Given the description of an element on the screen output the (x, y) to click on. 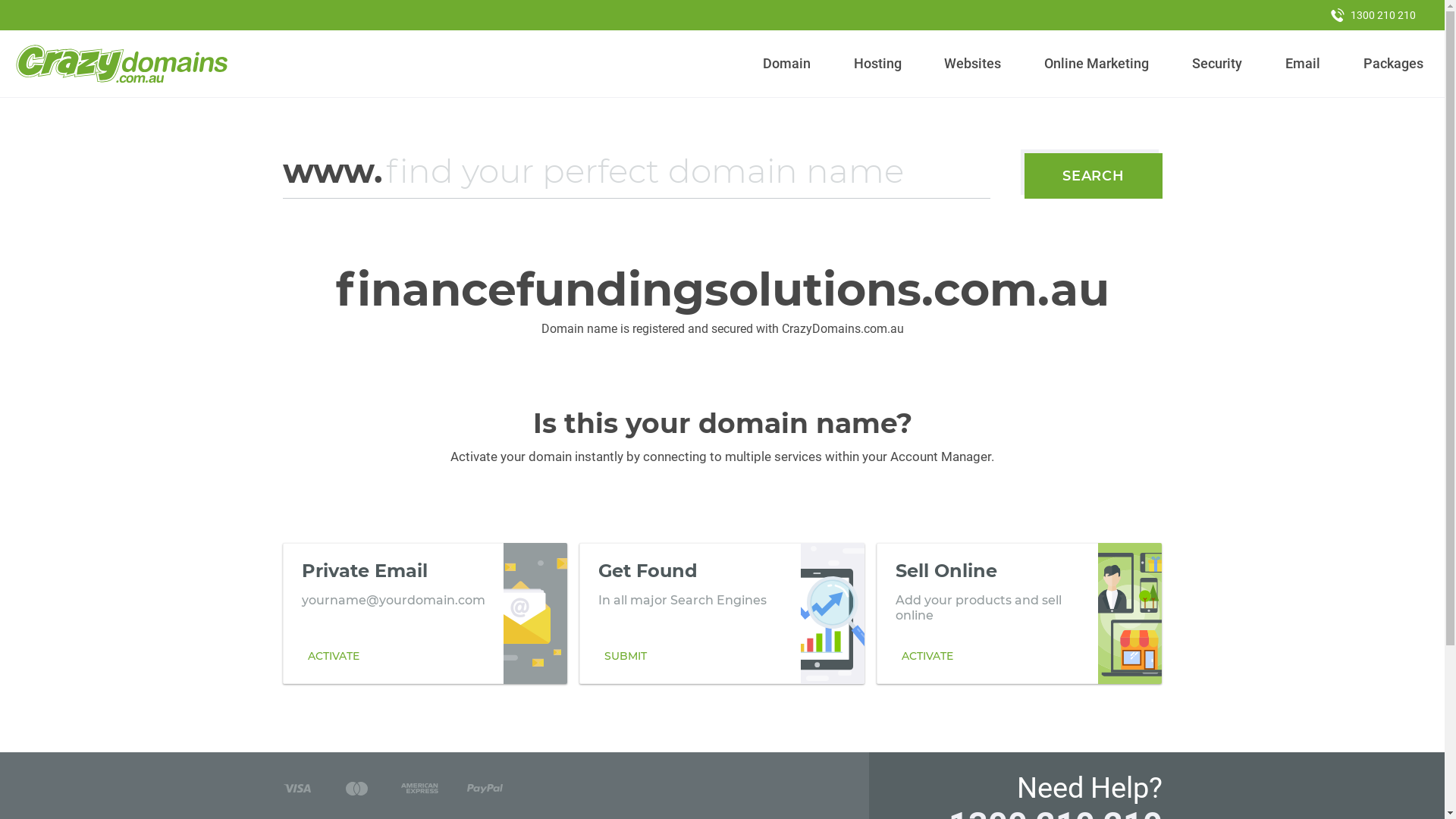
Websites Element type: text (972, 63)
Get Found
In all major Search Engines
SUBMIT Element type: text (721, 613)
Sell Online
Add your products and sell online
ACTIVATE Element type: text (1018, 613)
Email Element type: text (1302, 63)
Security Element type: text (1217, 63)
Hosting Element type: text (877, 63)
Packages Element type: text (1392, 63)
Private Email
yourname@yourdomain.com
ACTIVATE Element type: text (424, 613)
Domain Element type: text (786, 63)
SEARCH Element type: text (1092, 175)
1300 210 210 Element type: text (1373, 15)
Online Marketing Element type: text (1096, 63)
